Given the description of an element on the screen output the (x, y) to click on. 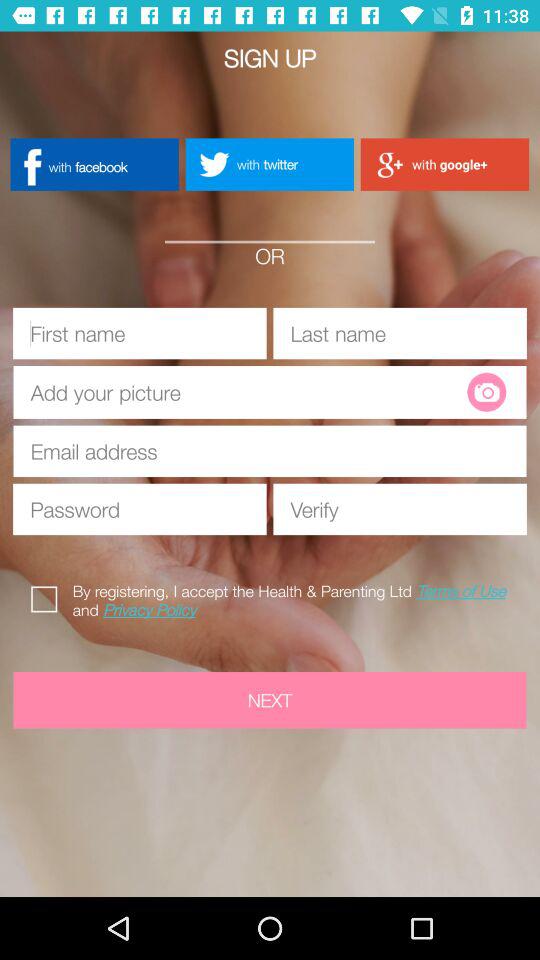
type first name (139, 333)
